Given the description of an element on the screen output the (x, y) to click on. 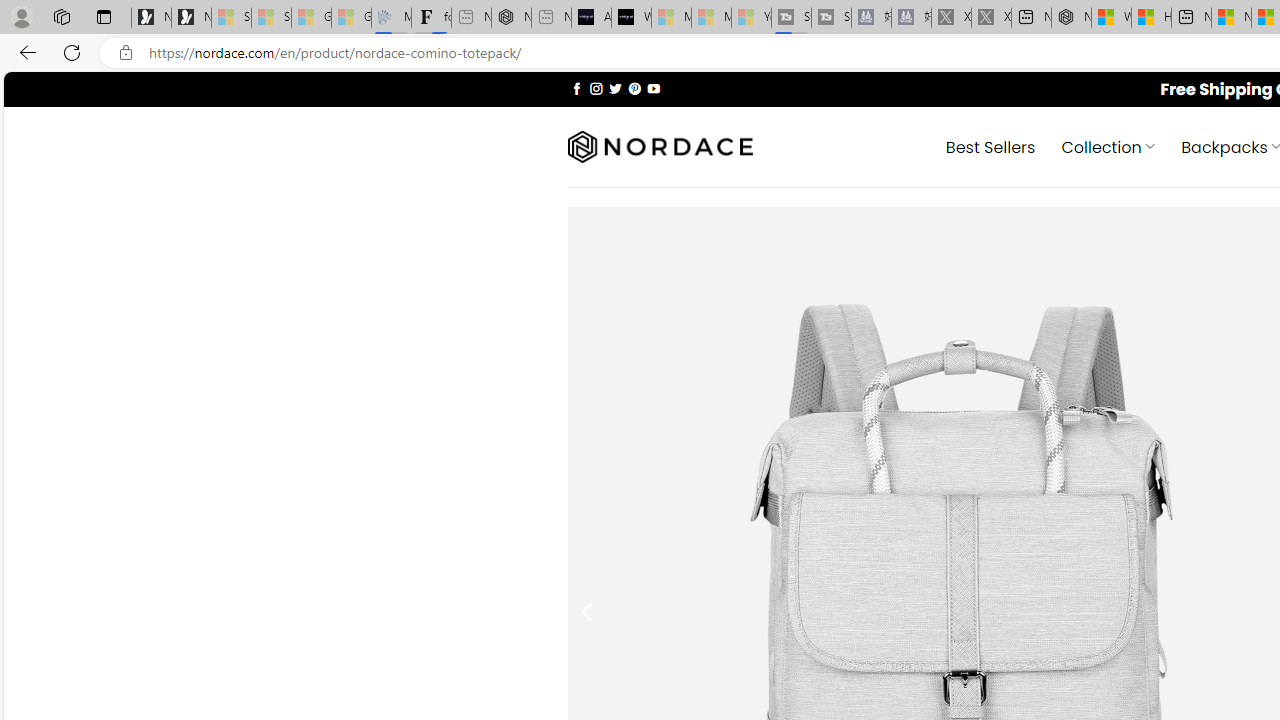
 Best Sellers (989, 146)
Follow on Facebook (576, 88)
What's the best AI voice generator? - voice.ai (631, 17)
Follow on YouTube (653, 88)
